Given the description of an element on the screen output the (x, y) to click on. 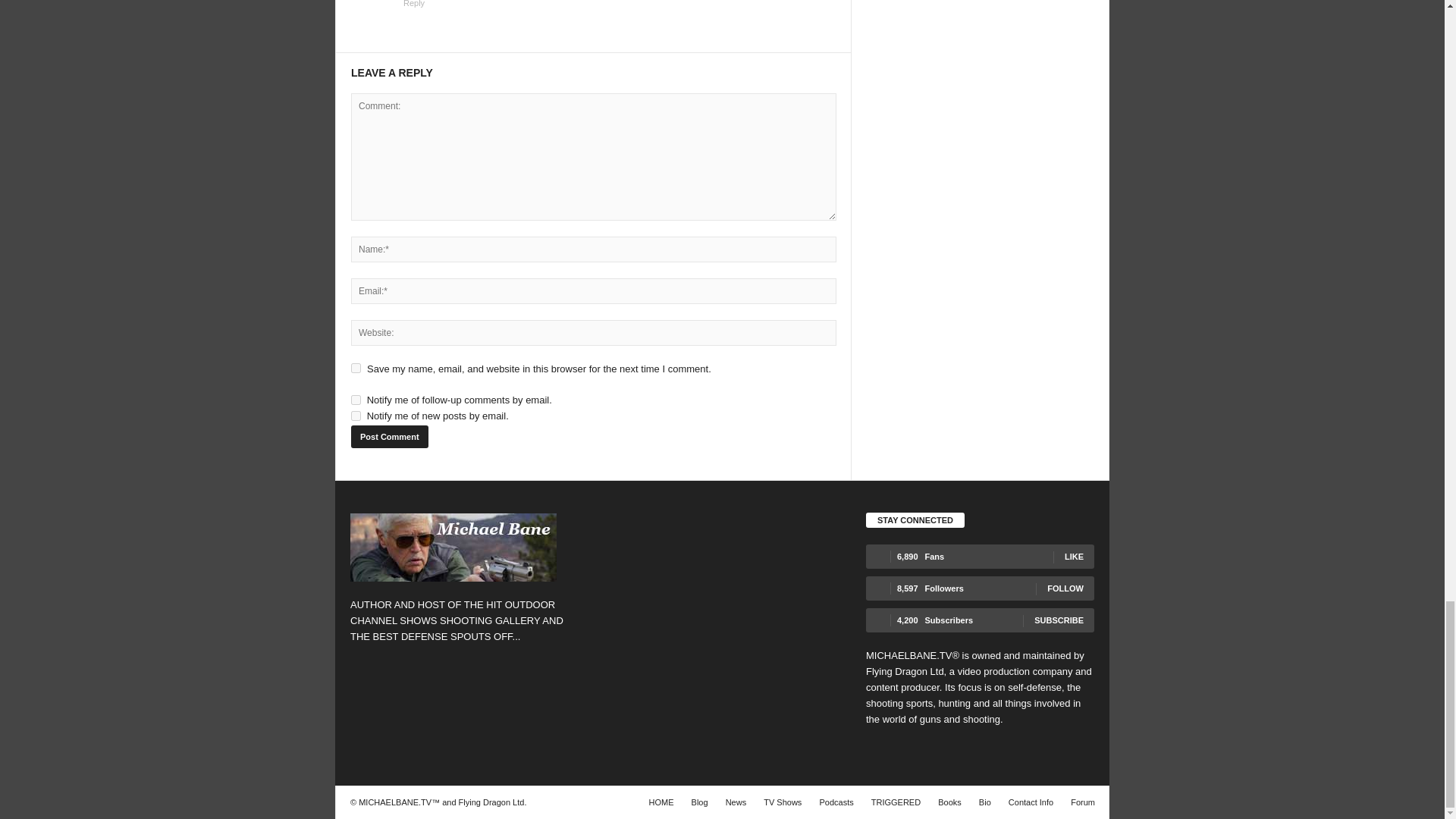
subscribe (355, 415)
Post Comment (389, 436)
yes (355, 368)
subscribe (355, 399)
